Given the description of an element on the screen output the (x, y) to click on. 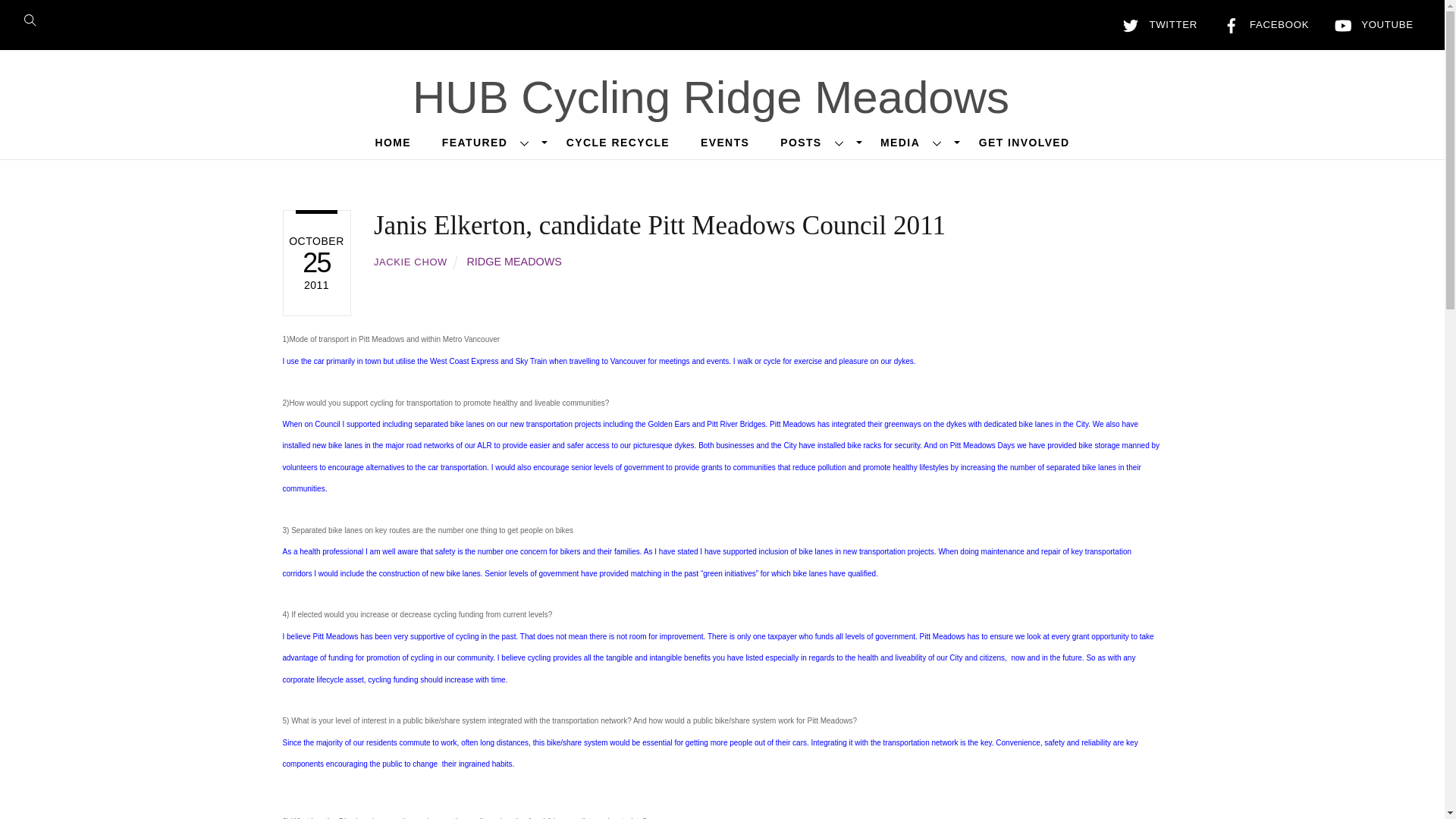
HOME (392, 142)
Janis Elkerton, candidate Pitt Meadows Council 2011 (659, 225)
GET INVOLVED (1023, 142)
FEATURED (488, 142)
Search (35, 18)
EVENTS (724, 142)
TWITTER (1155, 24)
YOUTUBE (1370, 24)
MEDIA (915, 142)
JACKIE CHOW (410, 261)
